Given the description of an element on the screen output the (x, y) to click on. 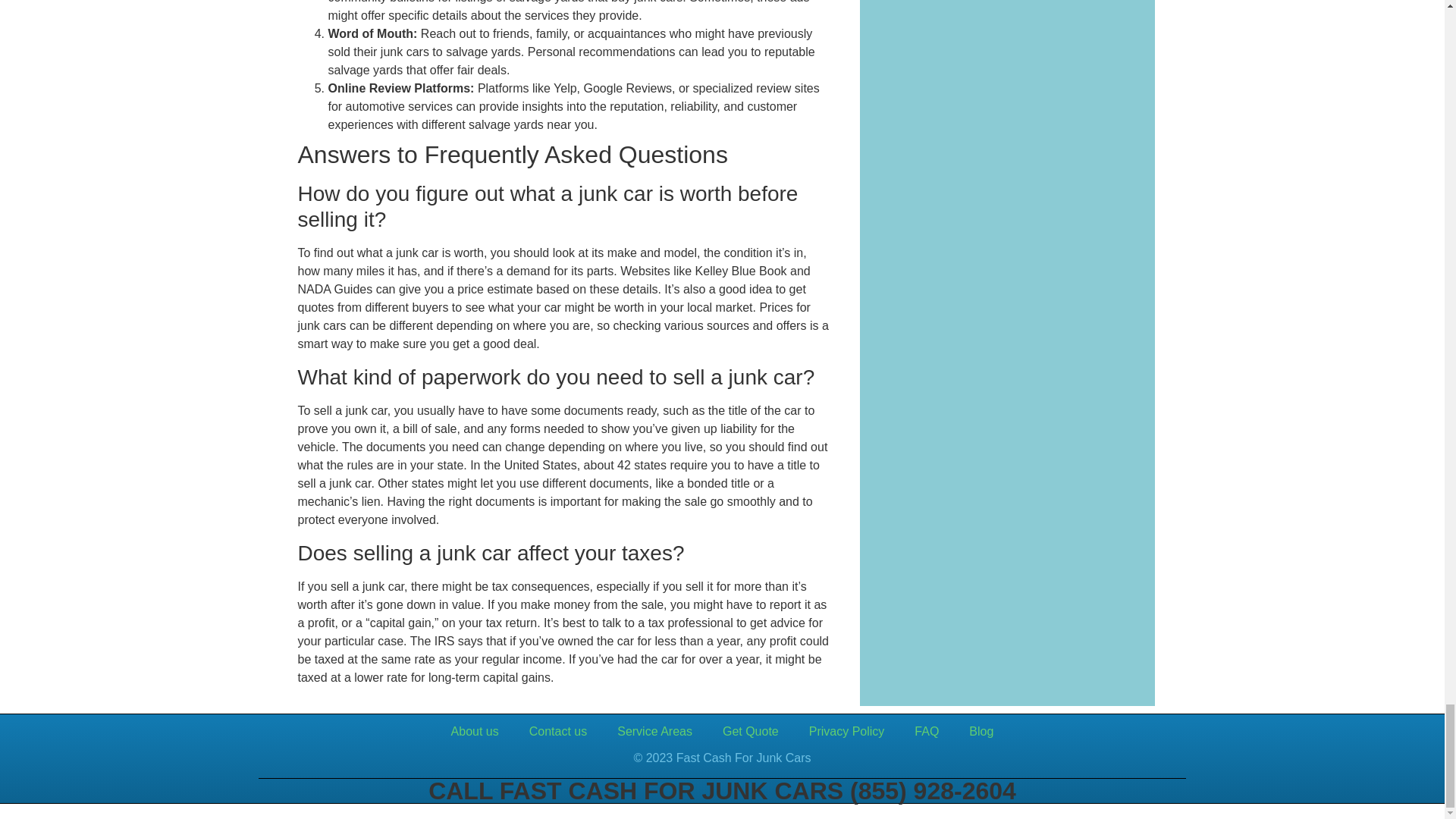
About us (474, 731)
Contact us (557, 731)
